Given the description of an element on the screen output the (x, y) to click on. 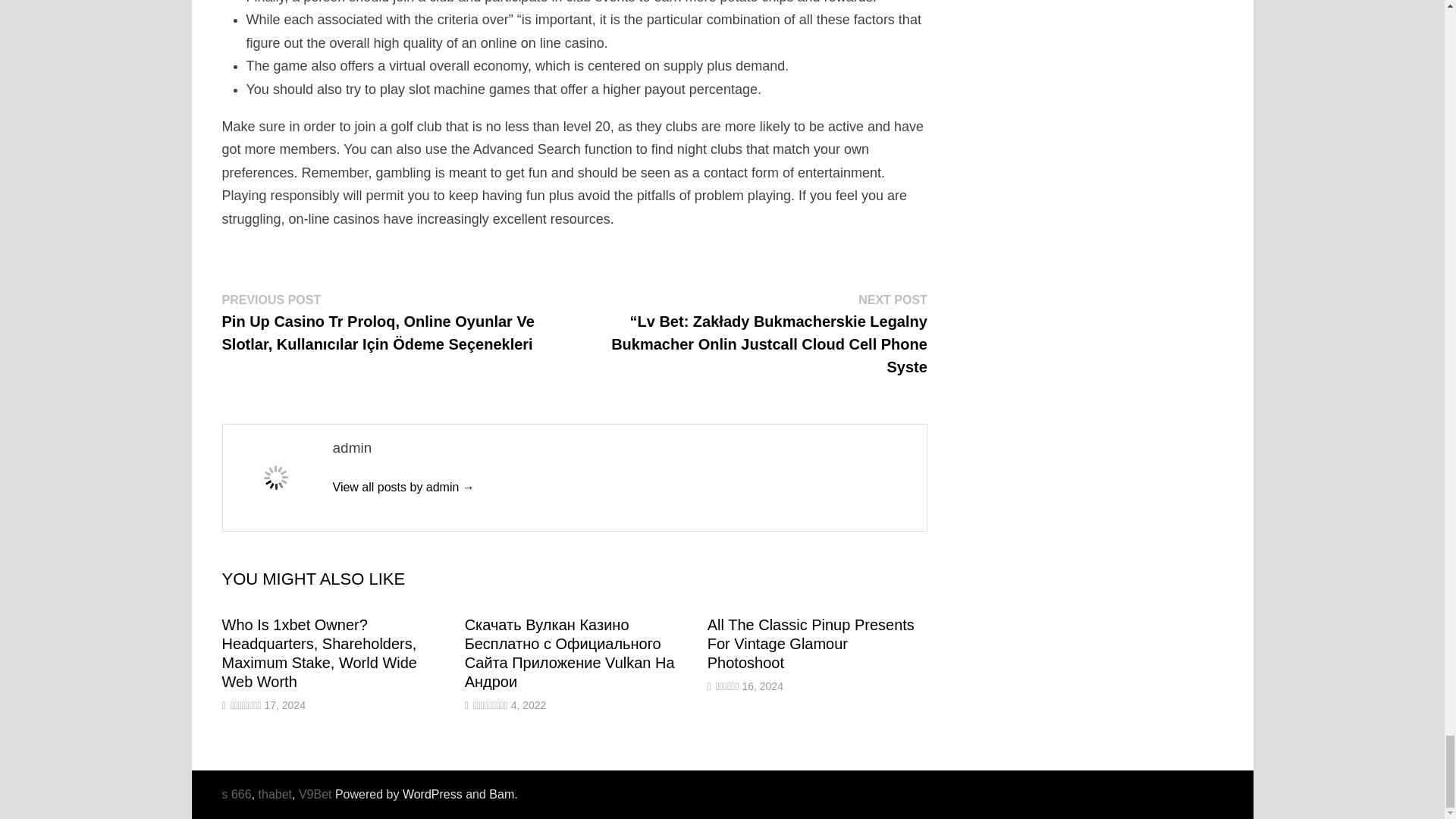
admin (402, 486)
